Given the description of an element on the screen output the (x, y) to click on. 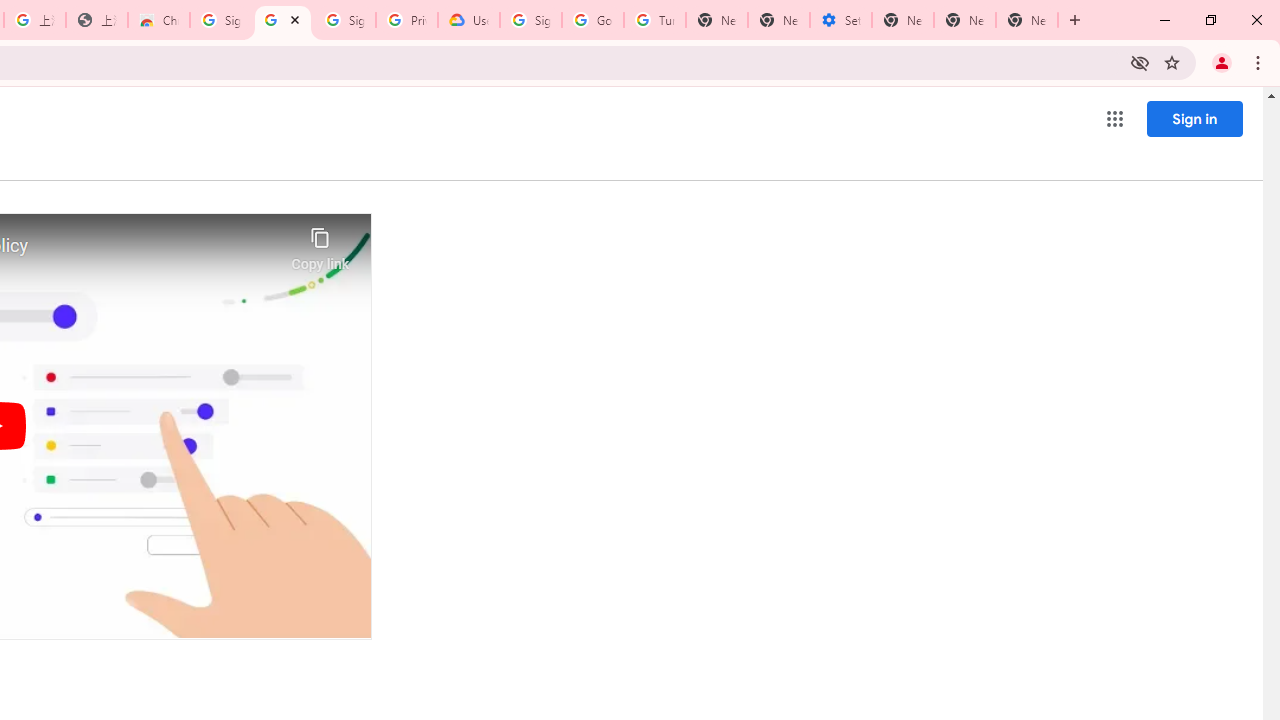
Turn cookies on or off - Computer - Google Account Help (654, 20)
Google Account Help (592, 20)
Copy link (319, 244)
Sign in - Google Accounts (344, 20)
